Given the description of an element on the screen output the (x, y) to click on. 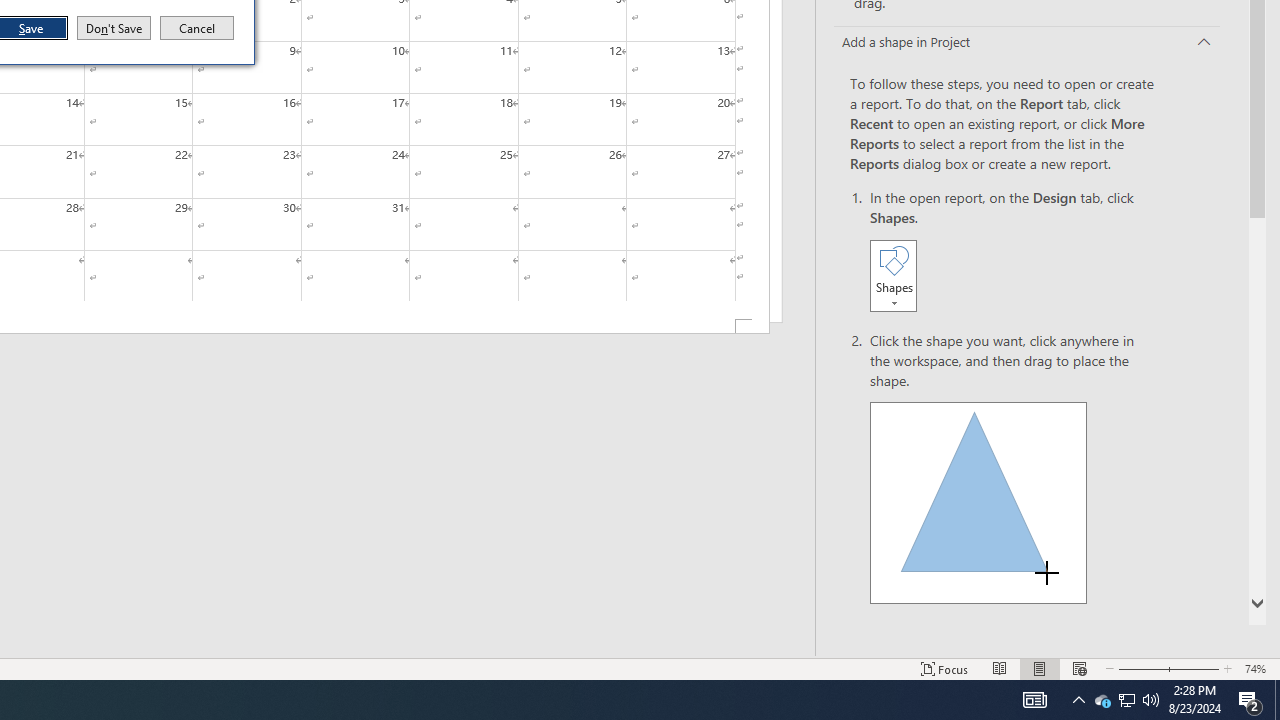
Read Mode (1000, 668)
User Promoted Notification Area (1126, 699)
Notification Chevron (1078, 699)
Add a shape in Project (1102, 699)
Insert Shapes button (1026, 43)
Q2790: 100% (893, 275)
Print Layout (1151, 699)
Drawing a shape (1039, 668)
Action Center, 2 new notifications (978, 502)
Web Layout (1250, 699)
AutomationID: 4105 (1079, 668)
Zoom In (1034, 699)
